Given the description of an element on the screen output the (x, y) to click on. 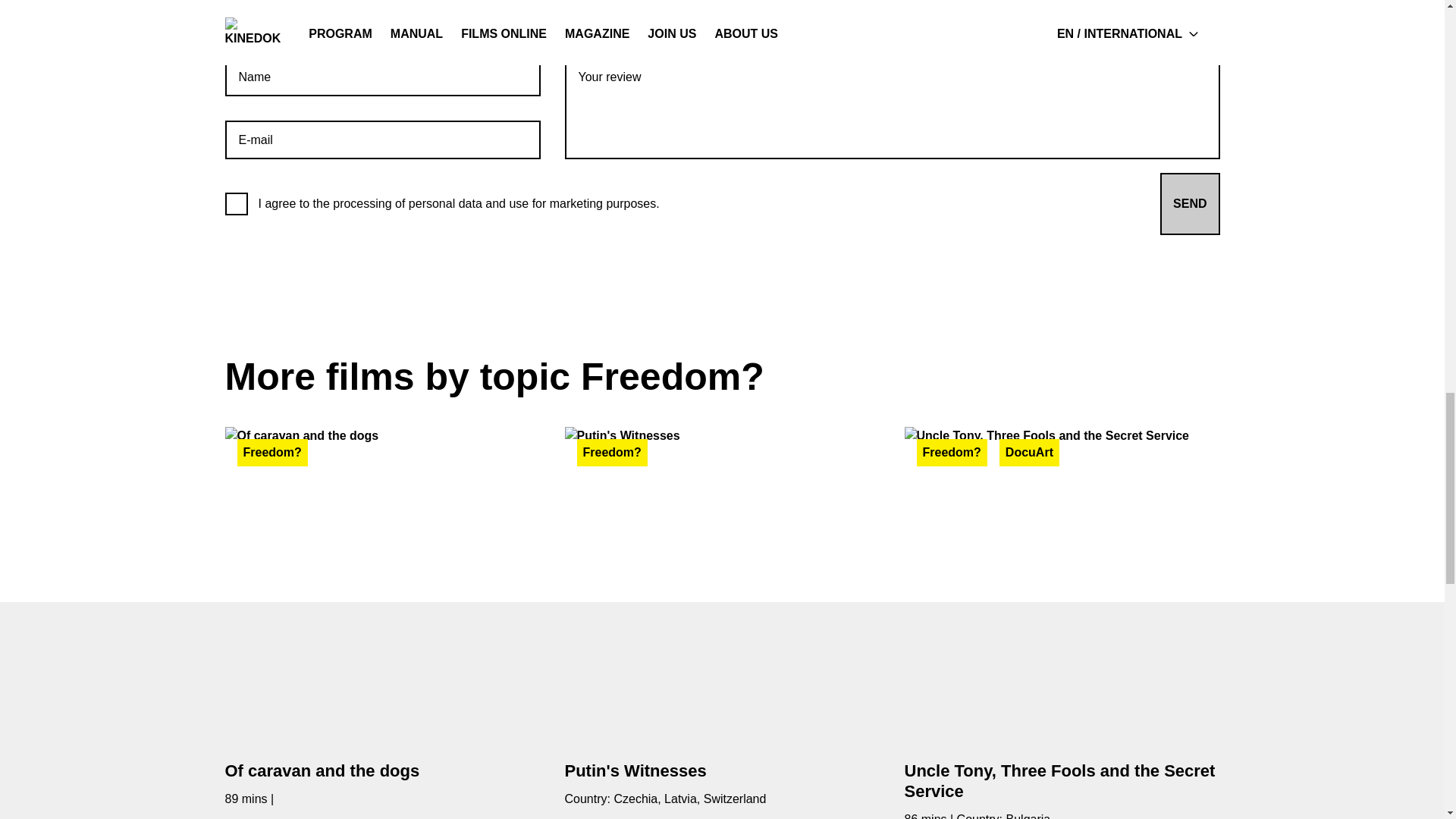
SEND (1190, 203)
